Given the description of an element on the screen output the (x, y) to click on. 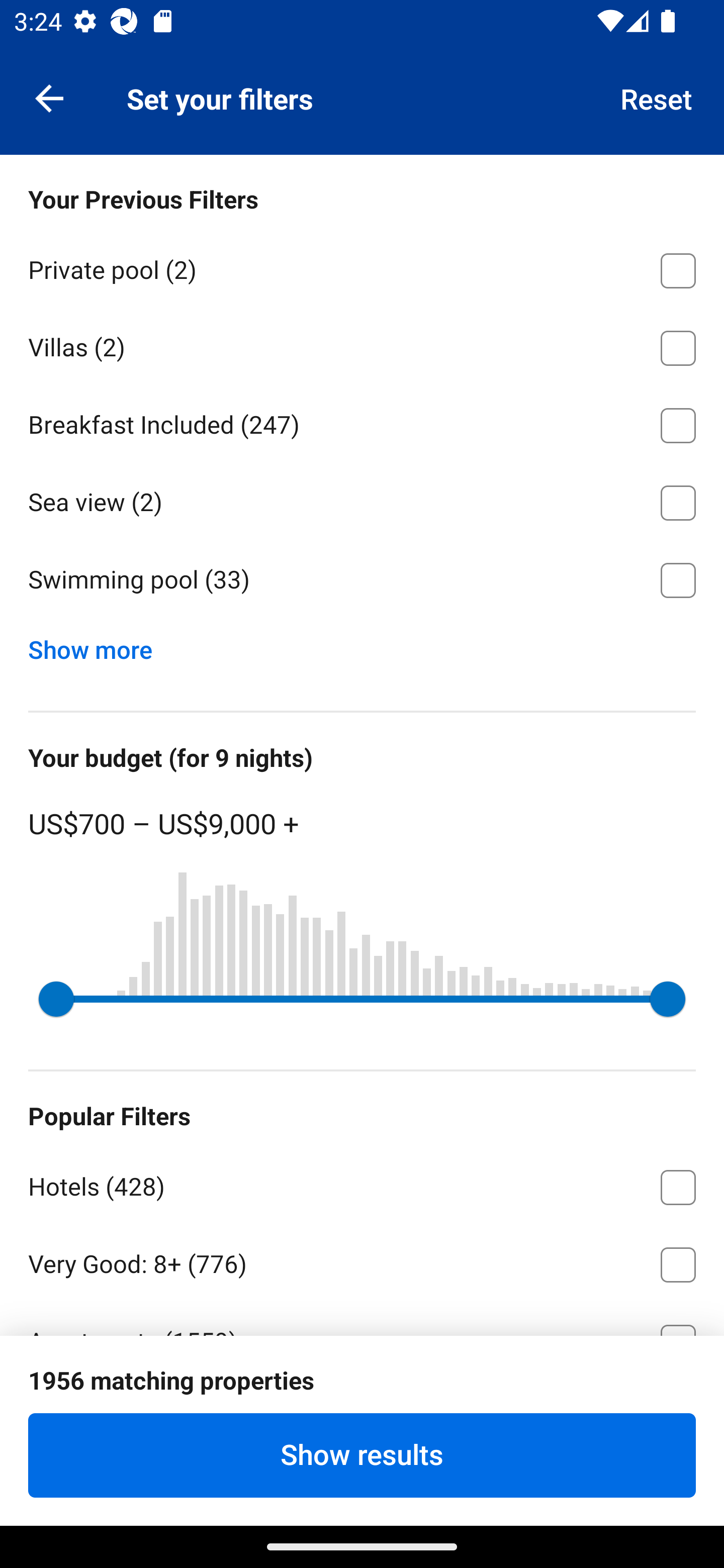
Navigate up (49, 97)
Reset (656, 97)
Private pool ⁦(2) (361, 266)
Villas ⁦(2) (361, 344)
Breakfast Included ⁦(247) (361, 422)
Sea view ⁦(2) (361, 498)
Swimming pool ⁦(33) (361, 579)
Show more (97, 645)
Hotels ⁦(428) (361, 1183)
Very Good: 8+ ⁦(776) (361, 1261)
Show results (361, 1454)
